Given the description of an element on the screen output the (x, y) to click on. 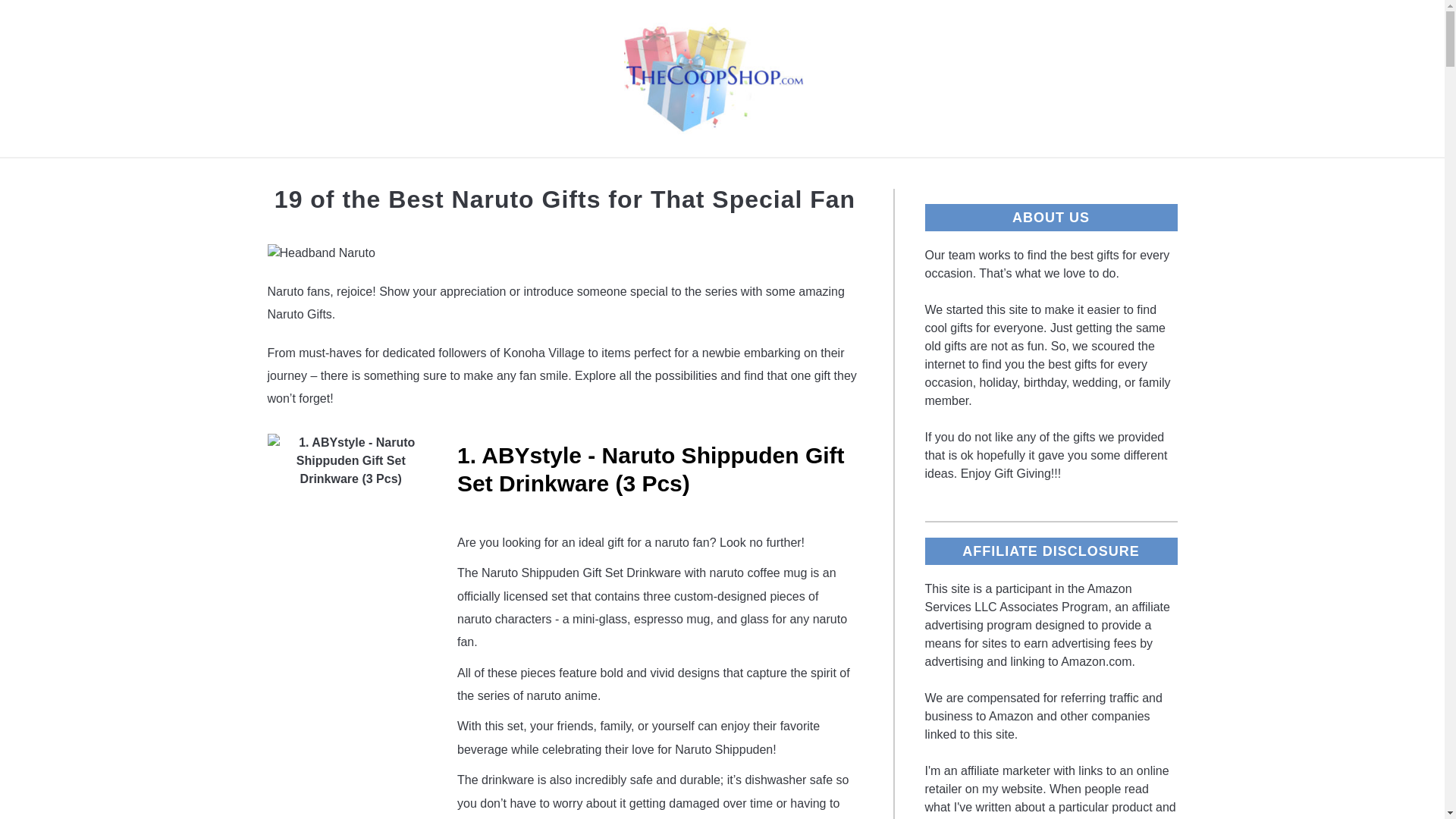
INTERESTS (561, 175)
Search (1203, 78)
SPECIAL OCCASIONS (921, 175)
HOME (469, 175)
OCCUPATION (679, 175)
PEOPLE (786, 175)
